Given the description of an element on the screen output the (x, y) to click on. 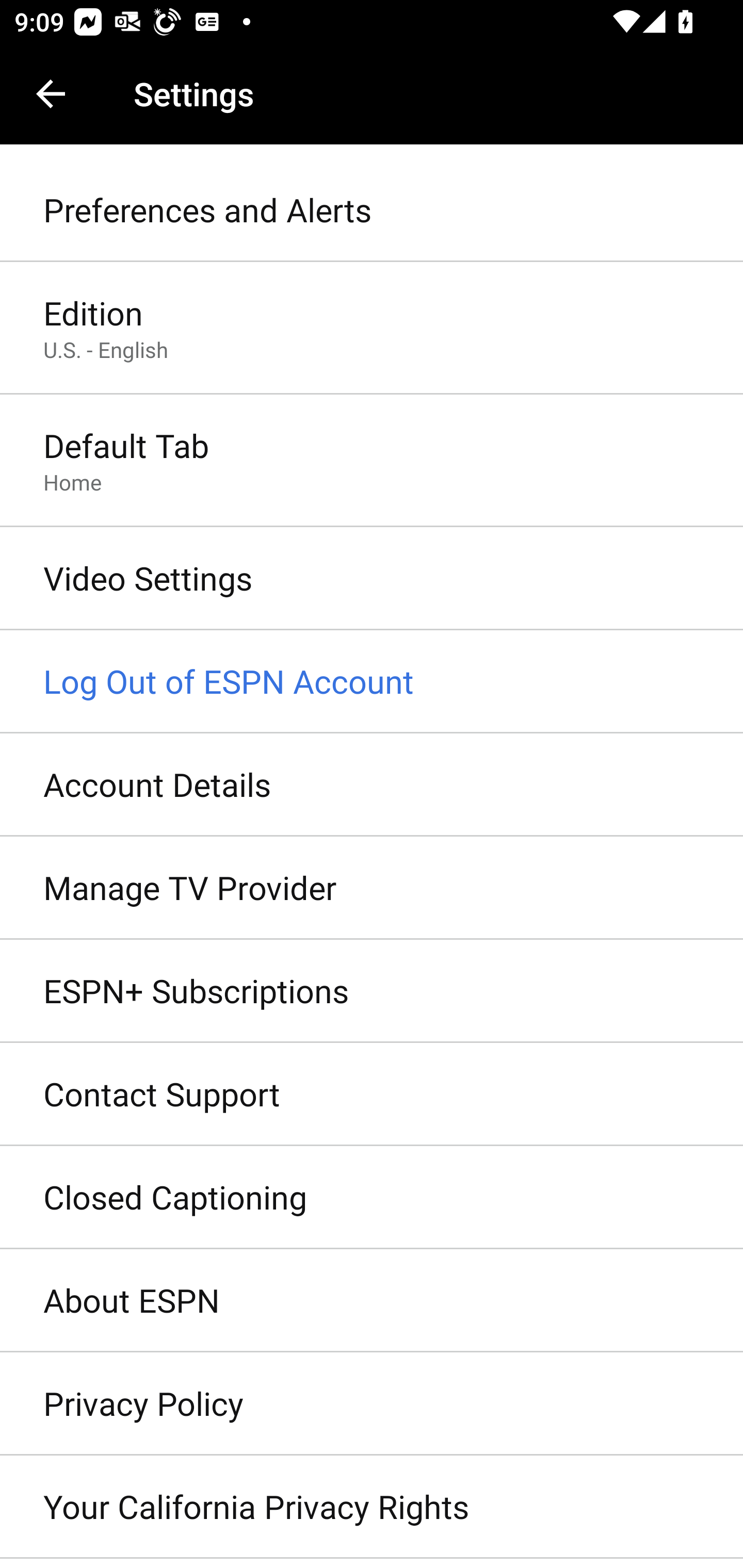
Navigate up (50, 93)
Preferences and Alerts (371, 209)
Edition U.S. - English (371, 328)
Default Tab Home (371, 461)
Video Settings (371, 578)
Log Out of ESPN Account (371, 681)
Account Details (371, 785)
Manage TV Provider (371, 888)
ESPN+ Subscriptions (371, 990)
Contact Support (371, 1094)
Closed Captioning (371, 1197)
About ESPN (371, 1301)
Privacy Policy (371, 1403)
Your California Privacy Rights (371, 1506)
